Given the description of an element on the screen output the (x, y) to click on. 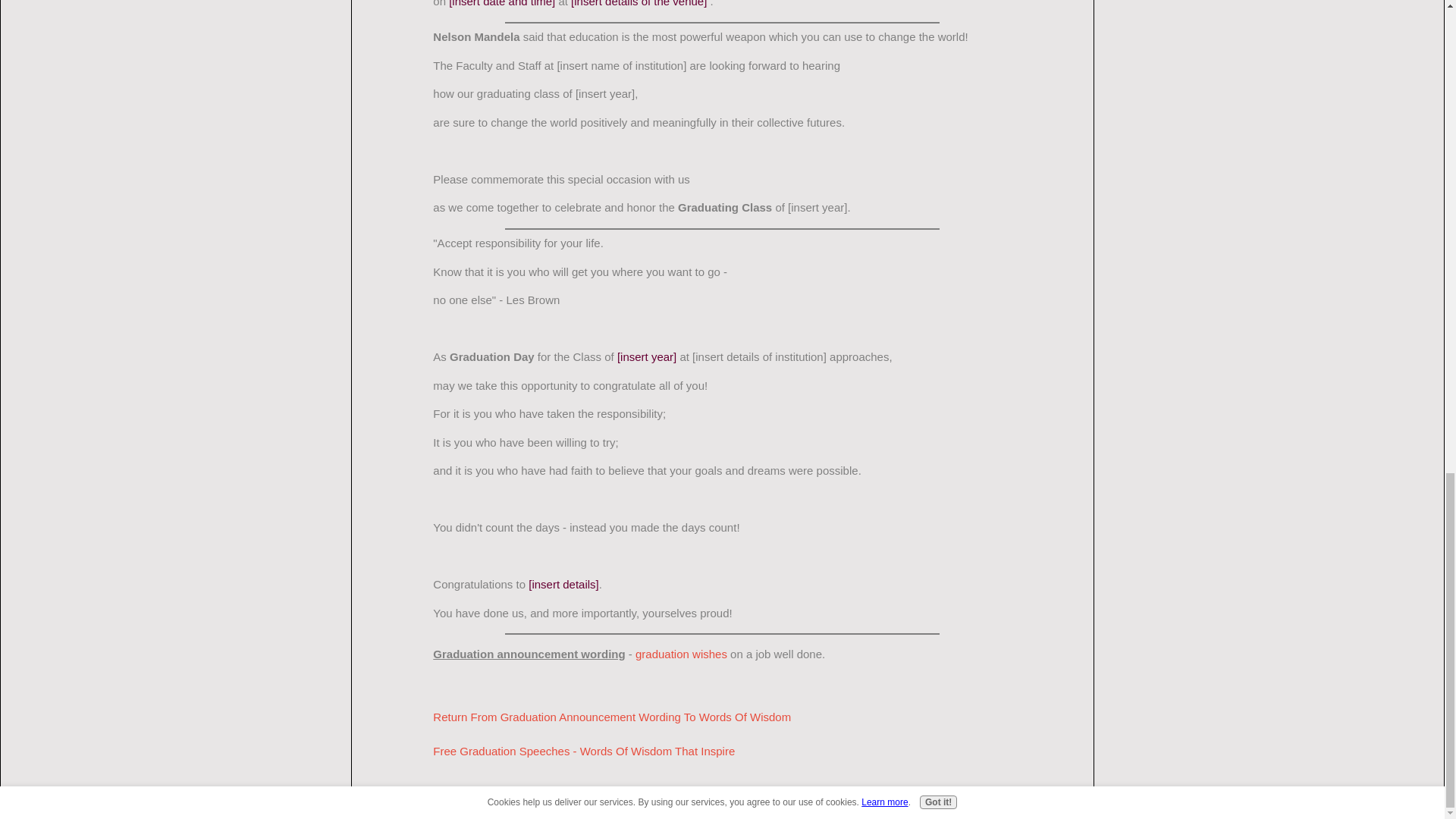
graduation wishes (680, 653)
Search (659, 797)
Free Graduation Speeches - Words Of Wisdom That Inspire (583, 750)
Search (659, 797)
